Given the description of an element on the screen output the (x, y) to click on. 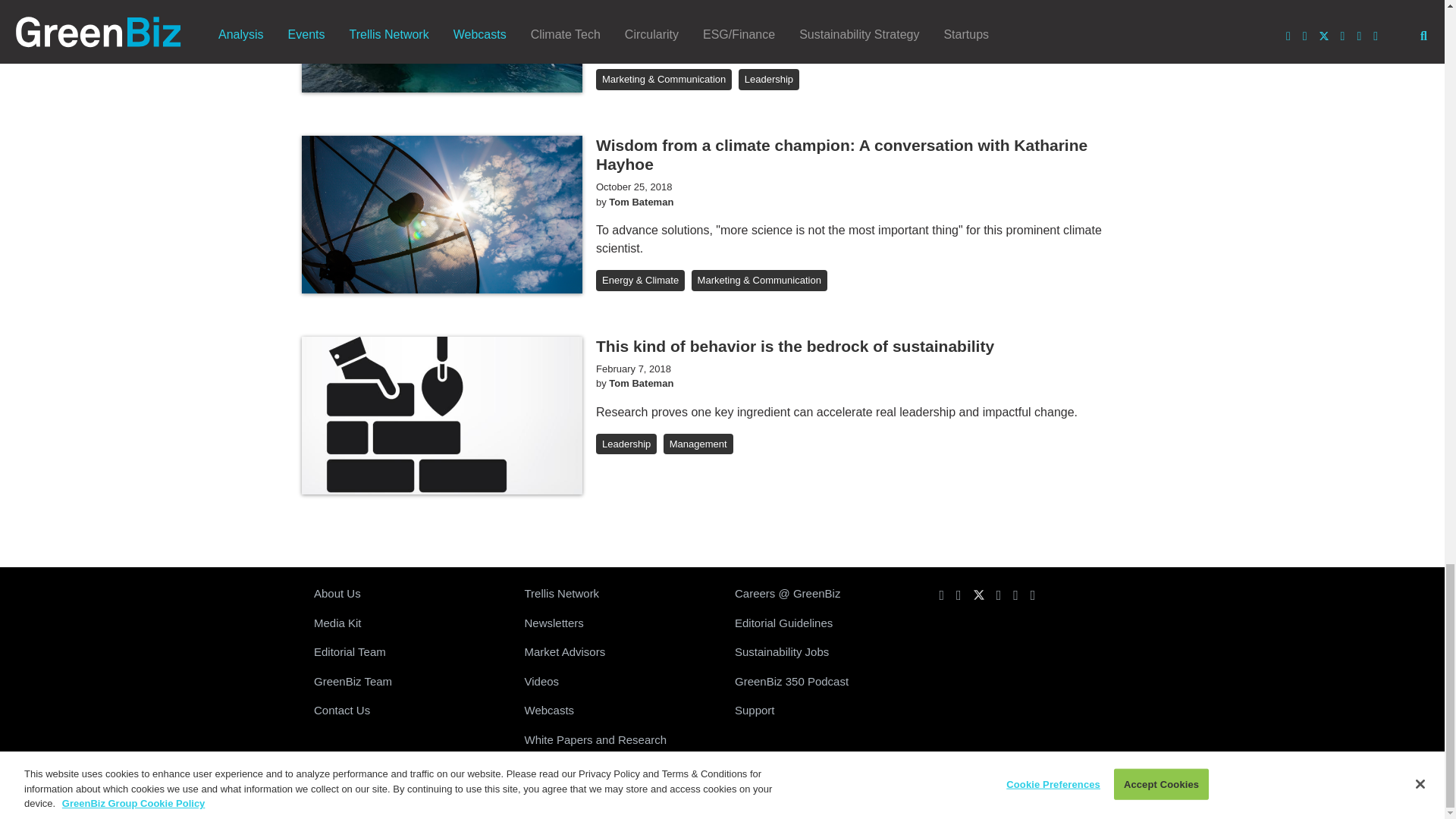
This is a footer link. (406, 681)
About GreenBiz Group (406, 594)
Information on GreenBiz Peer Network Offerings (617, 594)
